Given the description of an element on the screen output the (x, y) to click on. 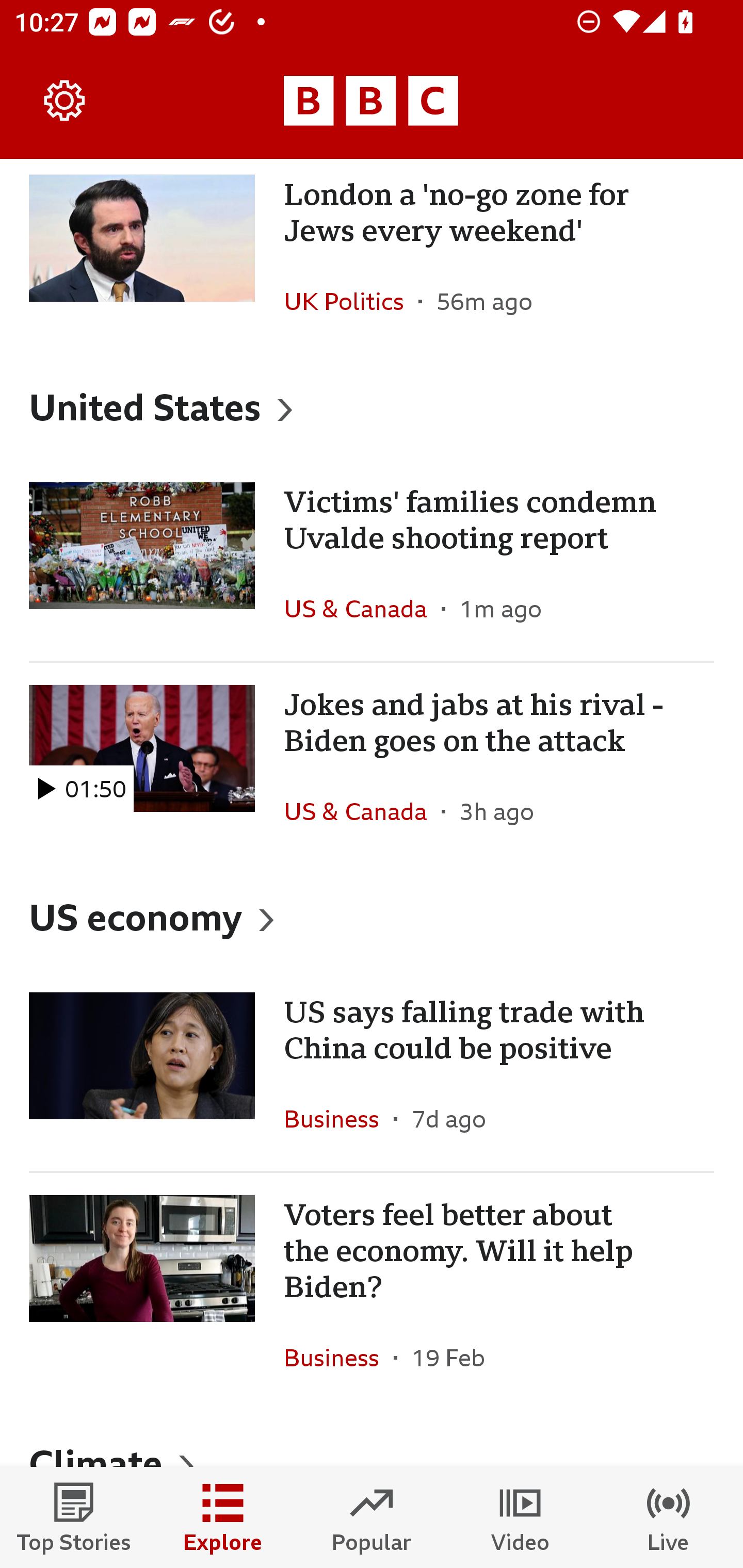
Settings (64, 100)
UK Politics In the section UK Politics (350, 300)
United States, Heading United States    (371, 405)
US & Canada In the section US & Canada (362, 608)
US & Canada In the section US & Canada (362, 810)
US economy, Heading US economy    (371, 916)
Business In the section Business (338, 1118)
Business In the section Business (338, 1357)
Top Stories (74, 1517)
Popular (371, 1517)
Video (519, 1517)
Live (668, 1517)
